Given the description of an element on the screen output the (x, y) to click on. 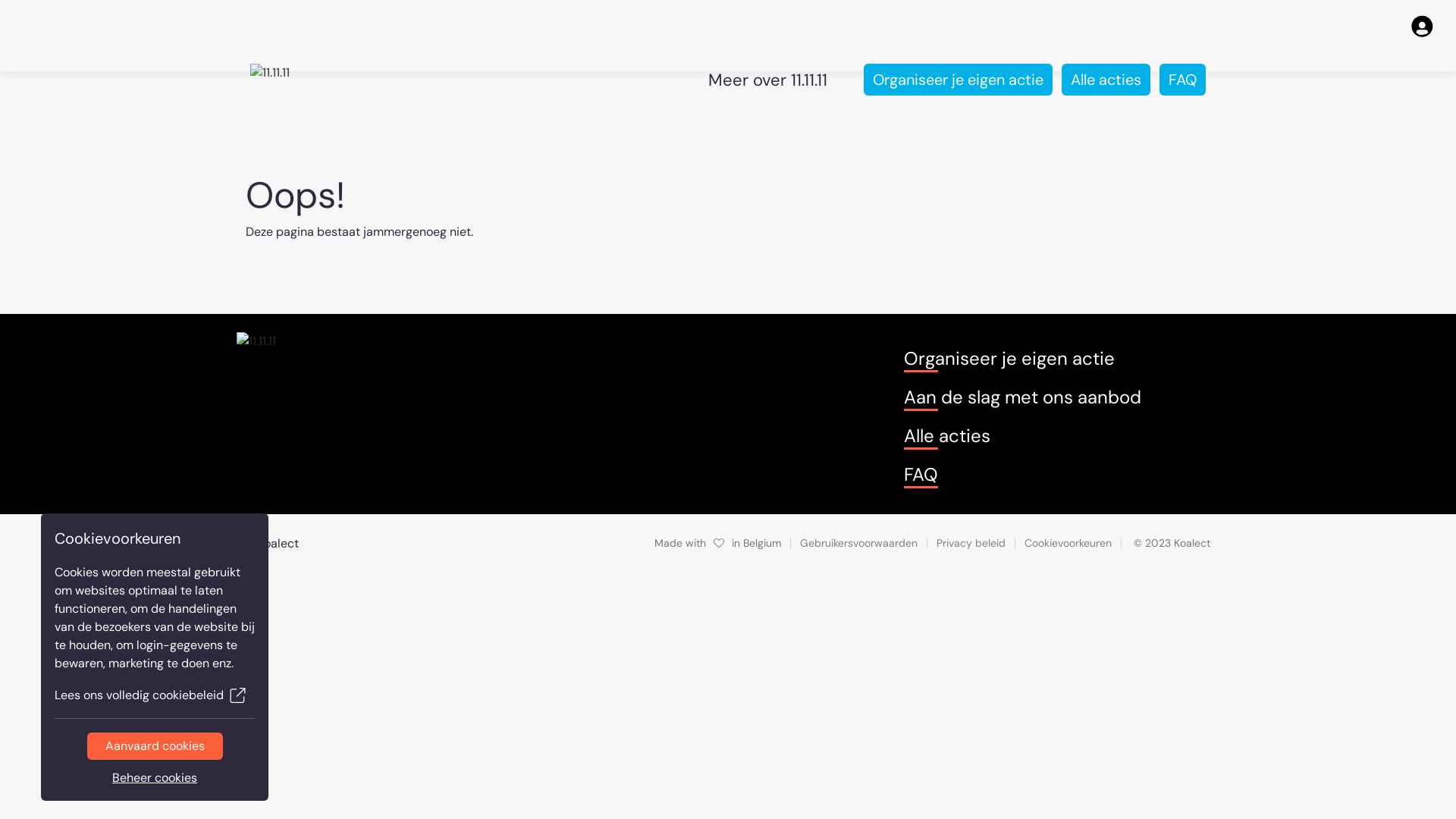
FAQ Element type: text (1182, 79)
Gebruikersvoorwaarden Element type: text (858, 542)
FAQ Element type: text (920, 474)
Cookievoorkeuren Element type: text (1067, 543)
Lees ons volledig cookiebeleid Element type: text (154, 695)
Organiseer je eigen actie Element type: text (1008, 358)
Alle acties Element type: text (946, 435)
Alle acties Element type: text (1105, 79)
Beheer cookies Element type: text (154, 777)
Organiseer je eigen actie Element type: text (957, 79)
Aan de slag met ons aanbod Element type: text (1022, 397)
Privacy beleid Element type: text (970, 542)
Meer over 11.11.11 Element type: text (767, 79)
Aanvaard cookies Element type: text (154, 745)
